Given the description of an element on the screen output the (x, y) to click on. 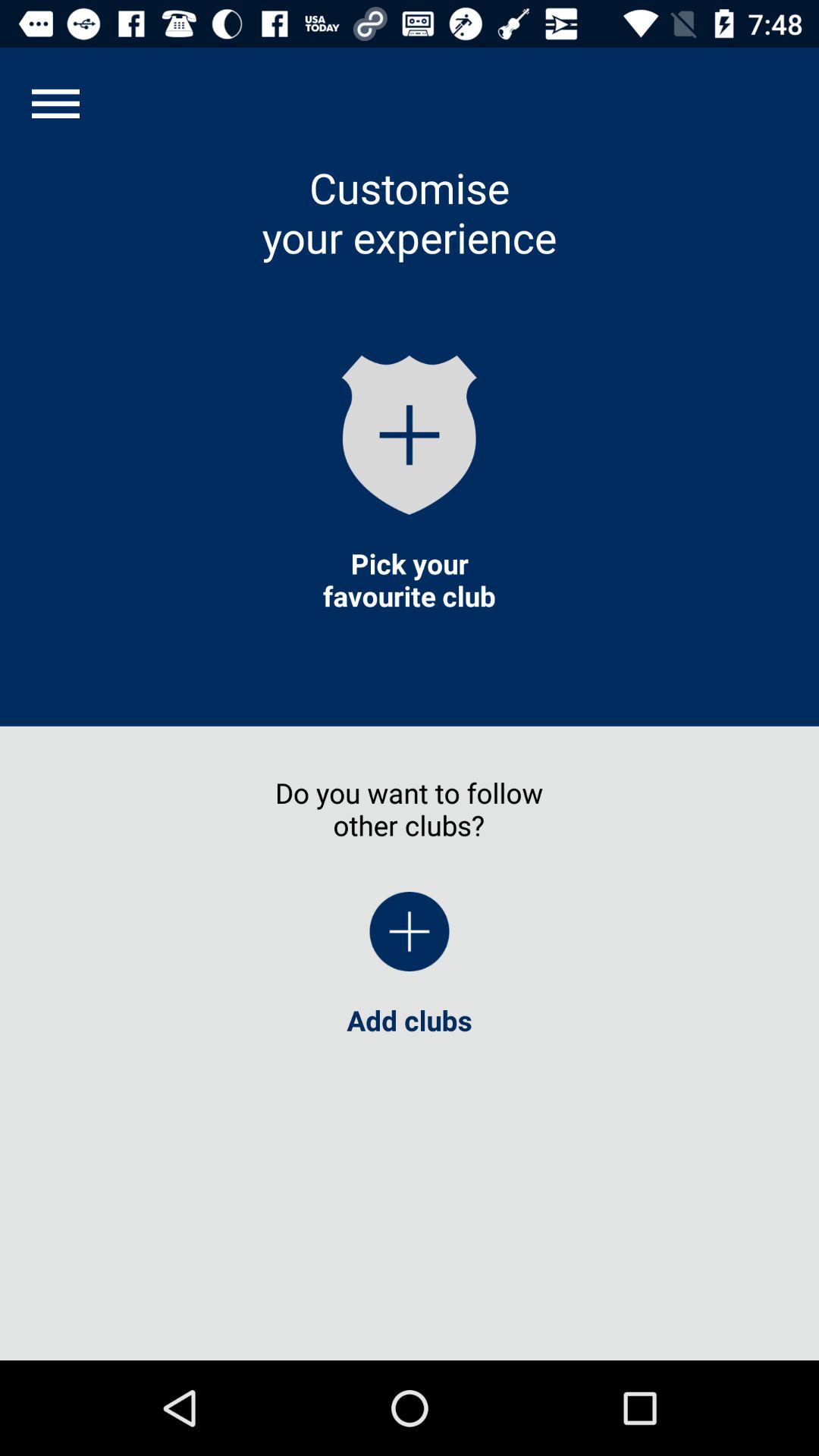
click the icon above pick your favourite item (409, 434)
